Given the description of an element on the screen output the (x, y) to click on. 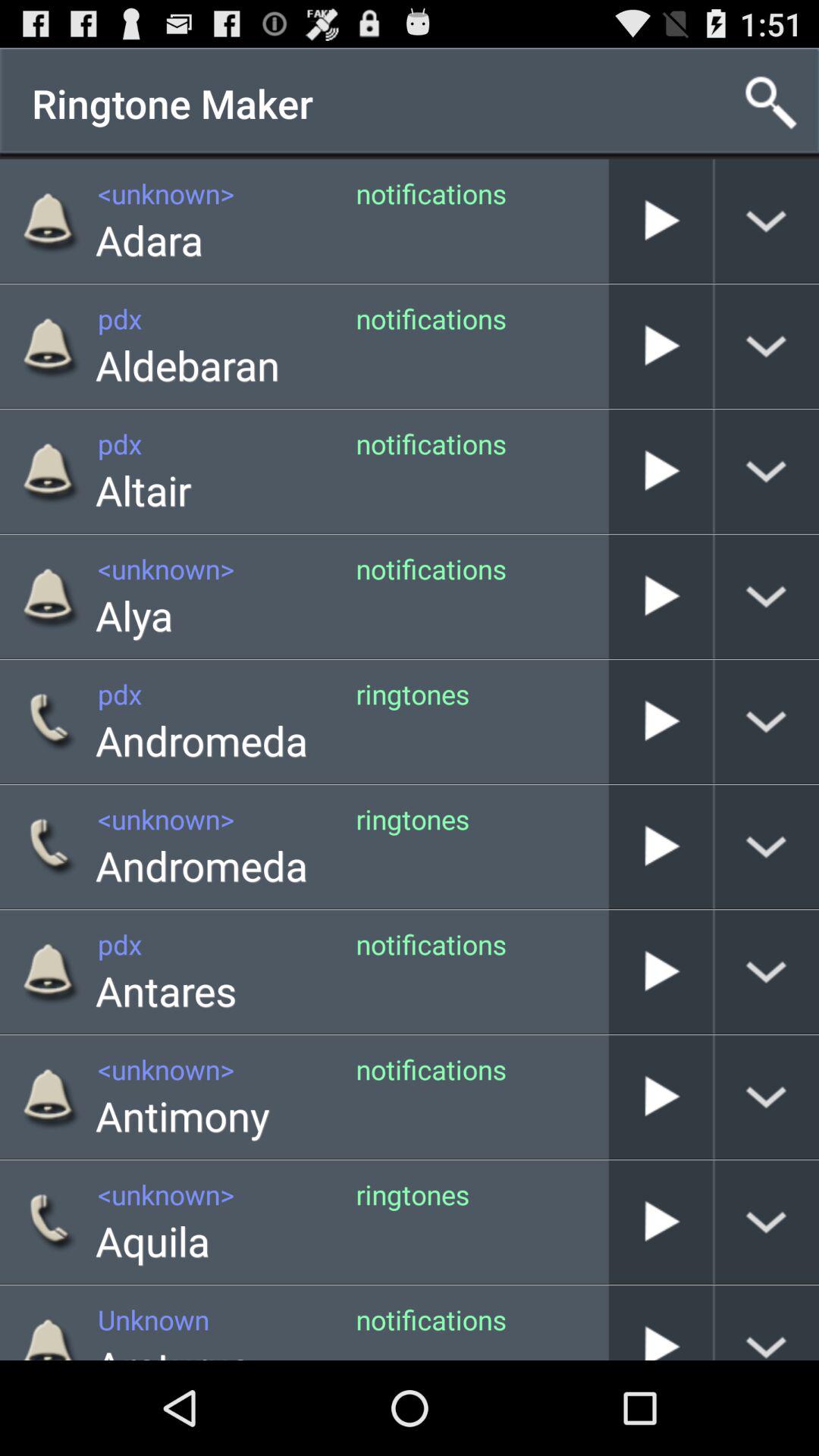
show more information (767, 1322)
